Given the description of an element on the screen output the (x, y) to click on. 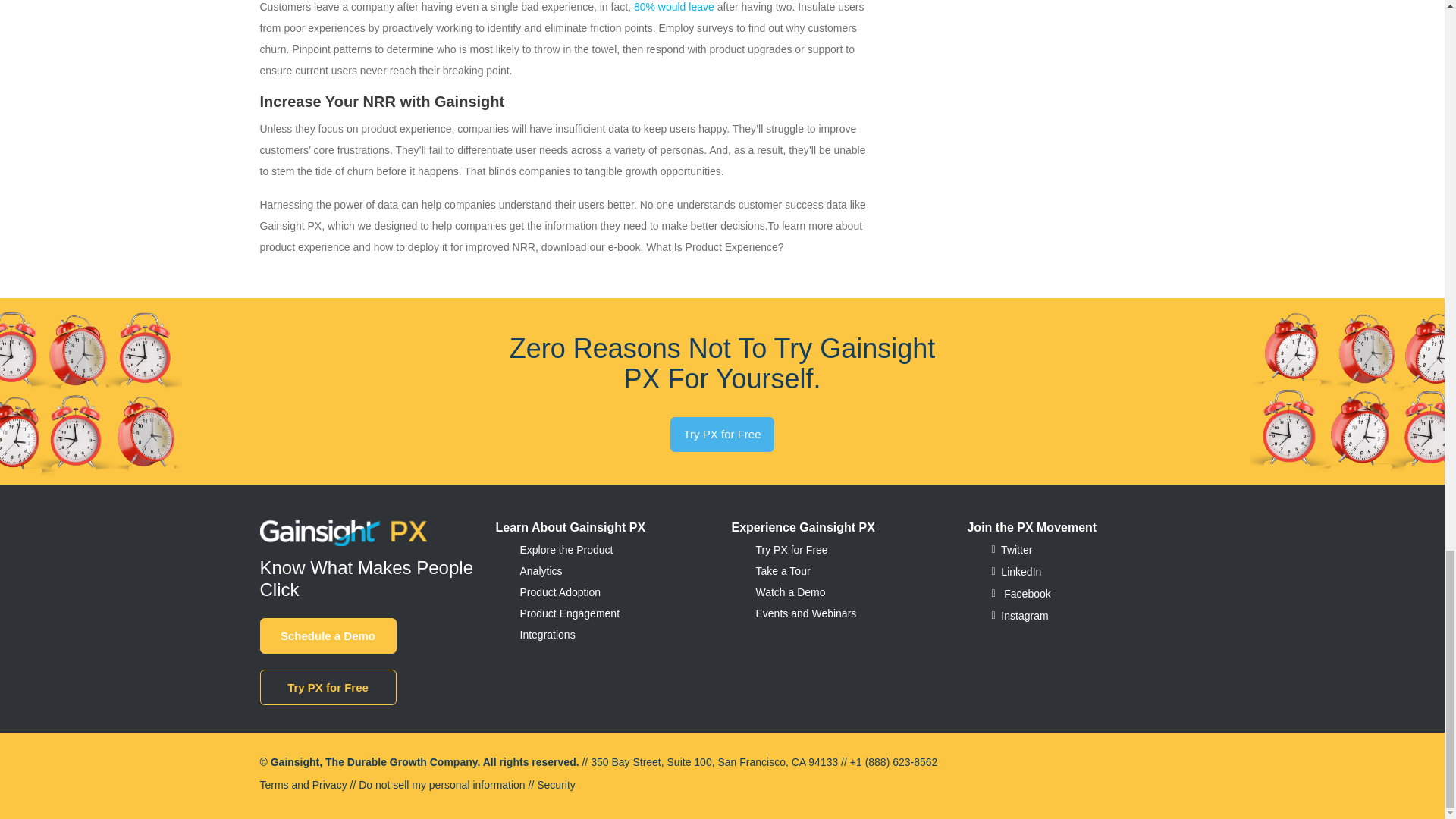
Security (556, 784)
Terms and Privacy (302, 784)
Personal Information (441, 784)
